Given the description of an element on the screen output the (x, y) to click on. 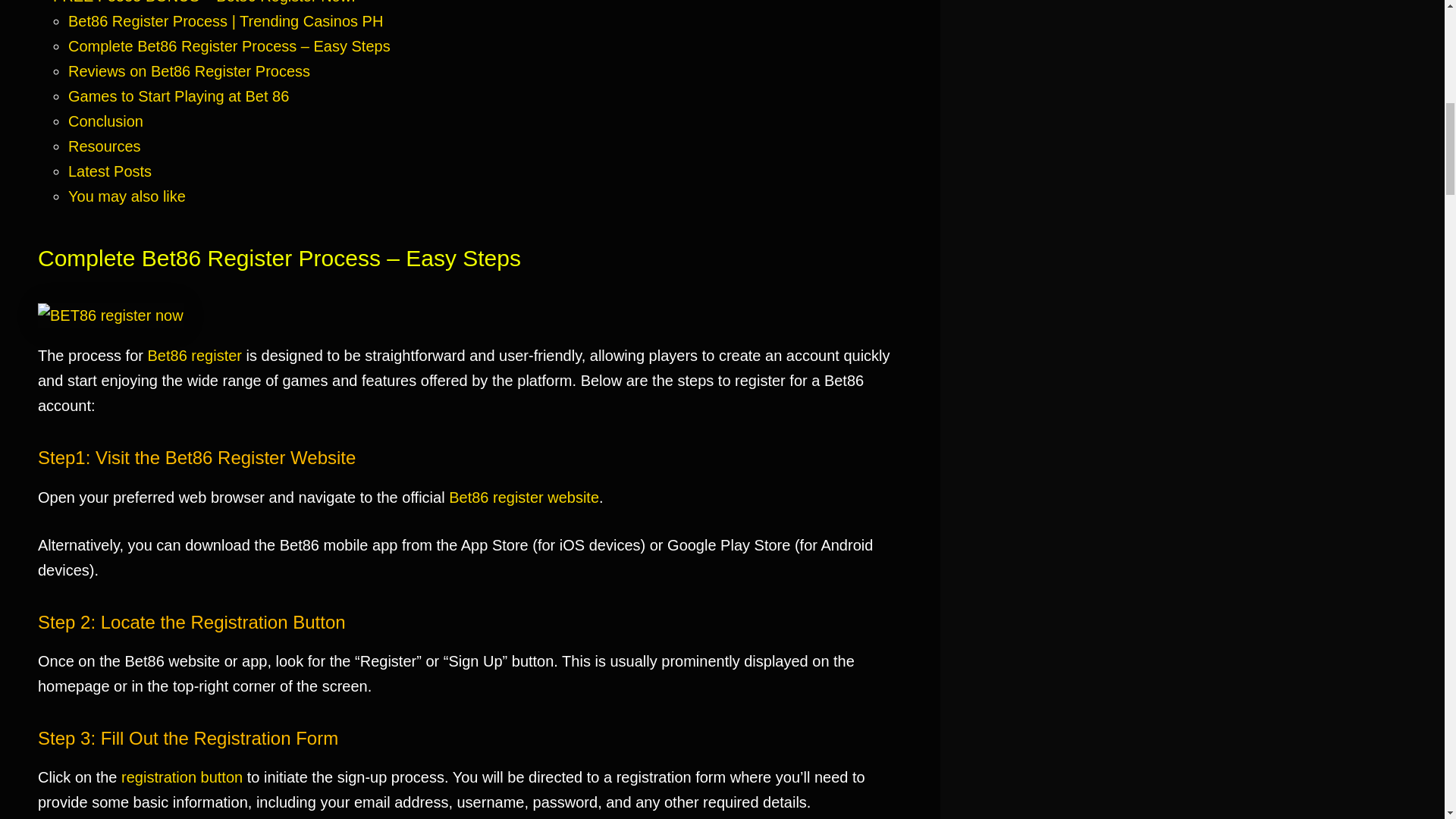
registration button (181, 777)
Resources (104, 146)
Latest Posts (109, 170)
You may also like (127, 196)
Bet86 register website (523, 497)
Conclusion (105, 121)
Games to Start Playing at Bet 86 (178, 95)
Reviews on Bet86 Register Process (189, 71)
Bet86 register (195, 355)
